Given the description of an element on the screen output the (x, y) to click on. 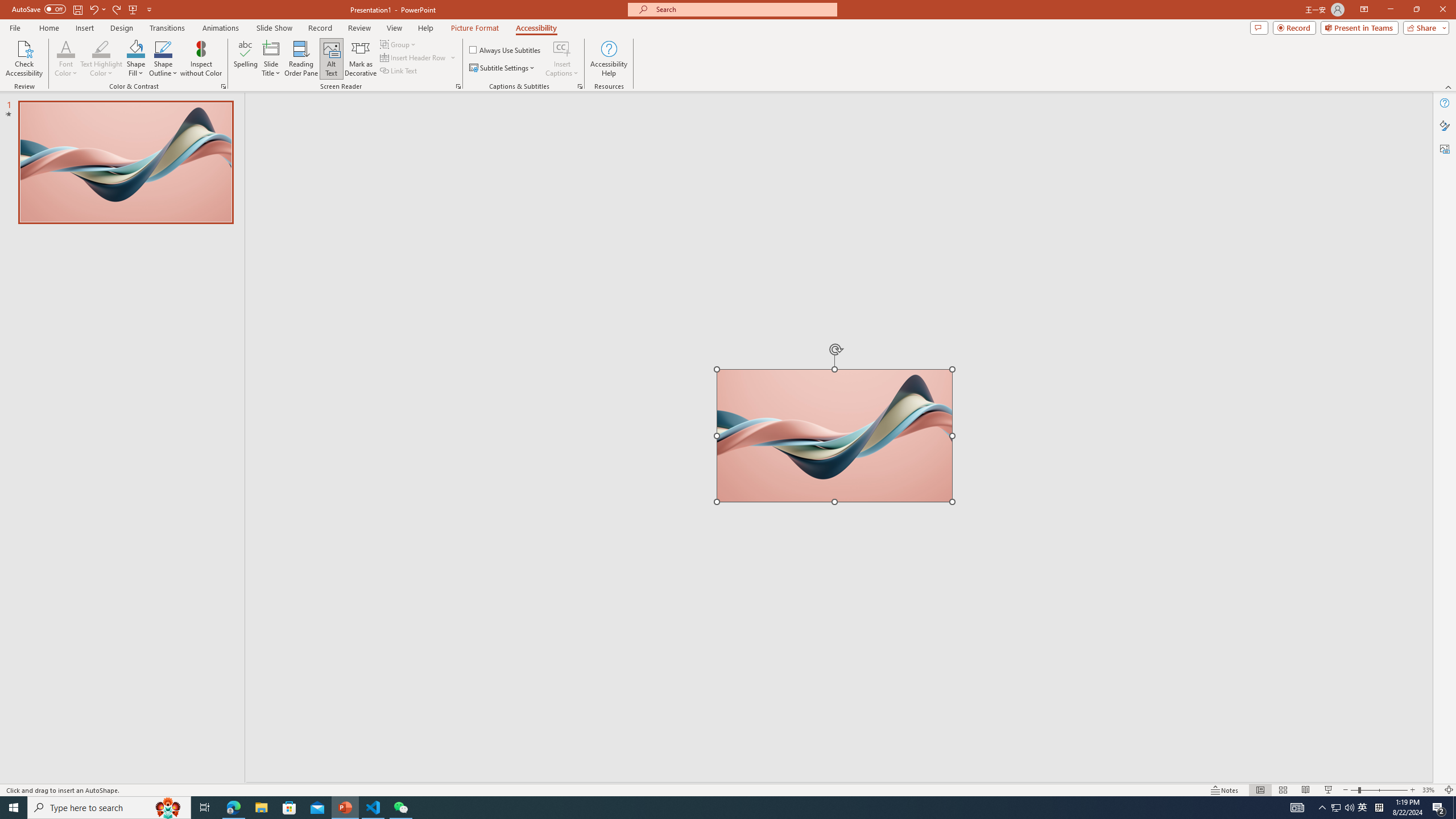
Picture Format (475, 28)
Screen Reader (458, 85)
Captions & Subtitles (580, 85)
